Given the description of an element on the screen output the (x, y) to click on. 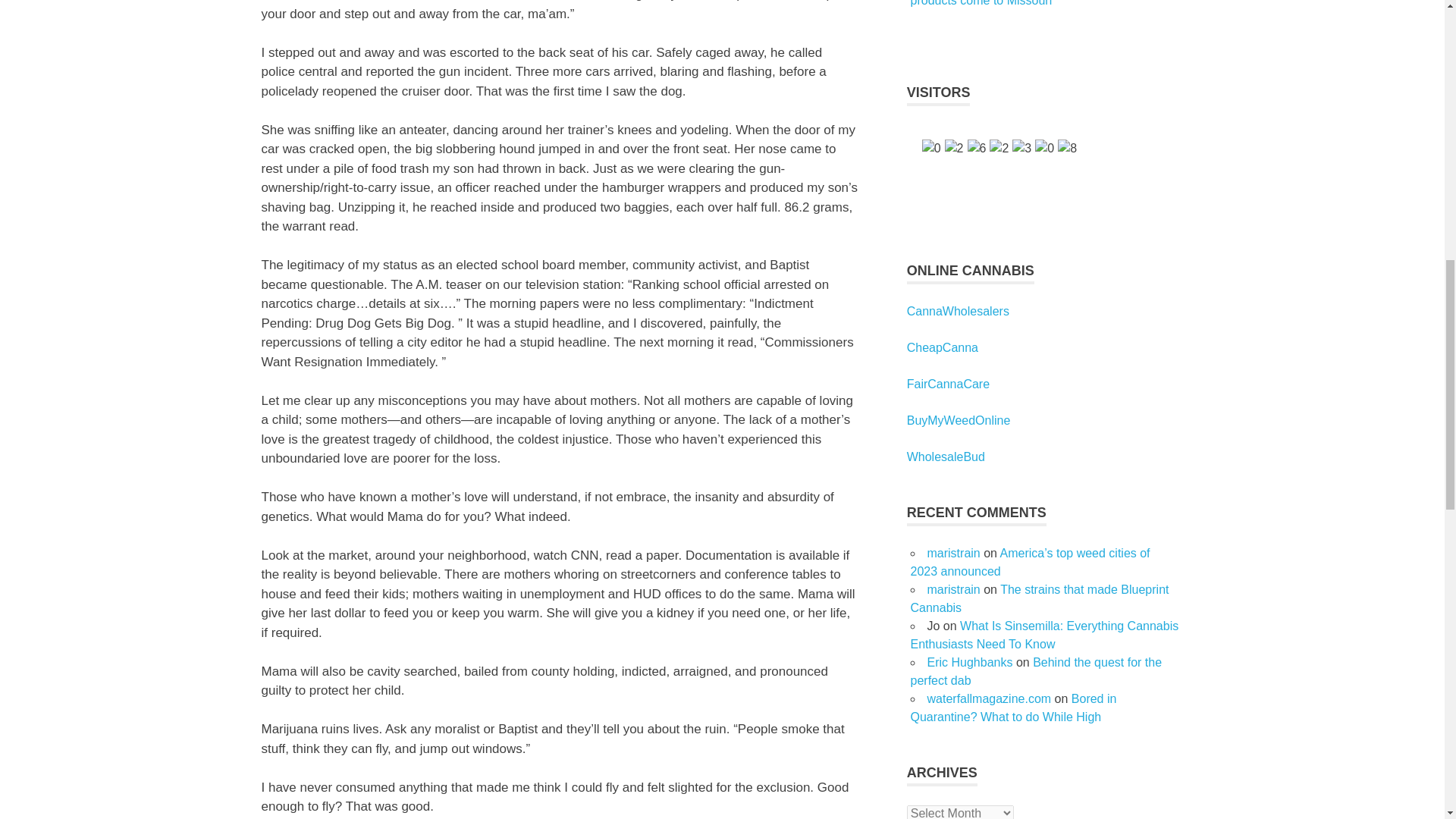
FairCannaCare (948, 383)
Behind the quest for the perfect dab (1035, 671)
CheapCanna (942, 347)
Eric Hughbanks (968, 662)
CannaWholesalers (958, 310)
BuyMyWeedOnline (958, 420)
The strains that made Blueprint Cannabis (1039, 598)
maristrain (952, 589)
